Given the description of an element on the screen output the (x, y) to click on. 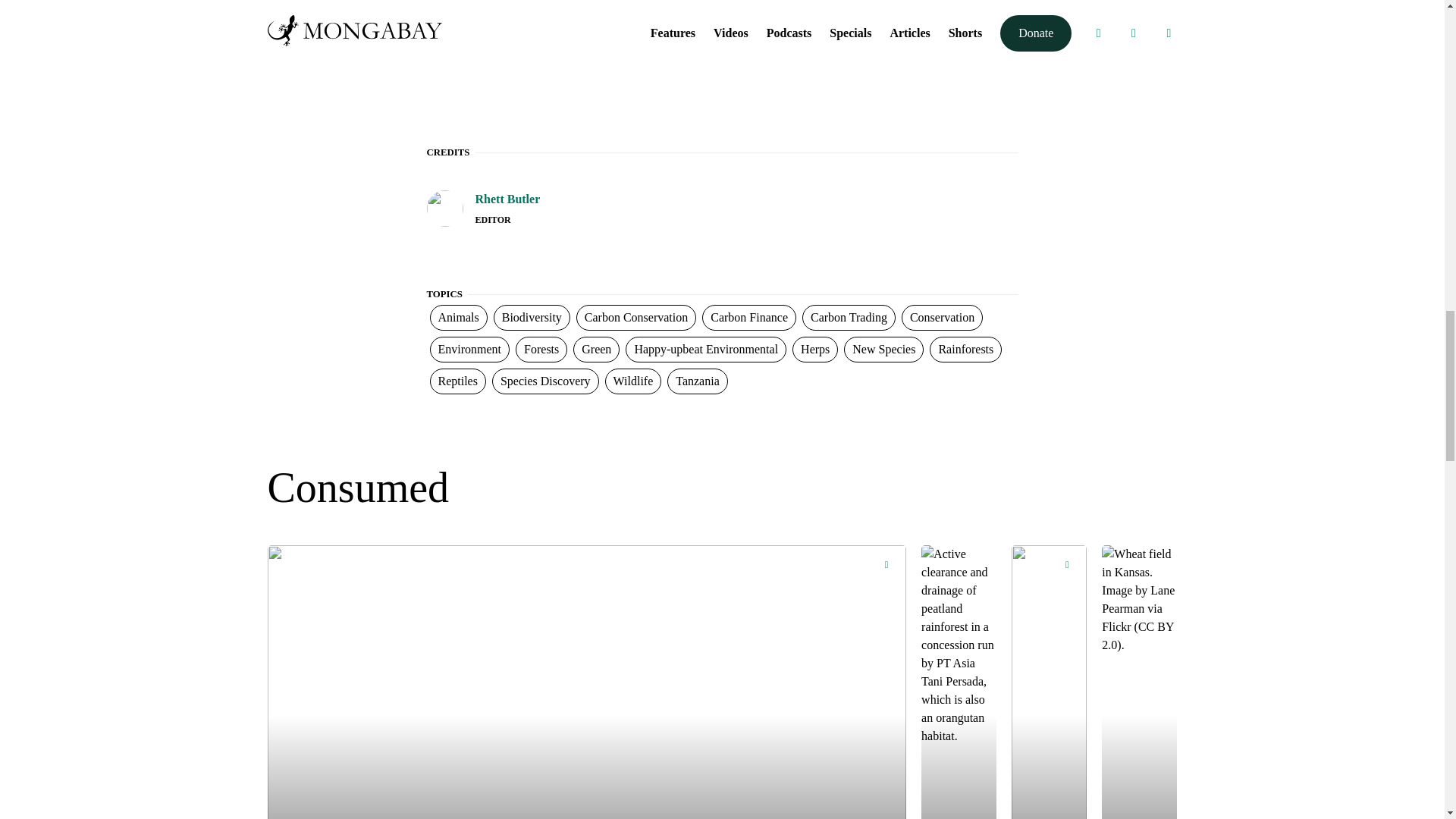
Posts by Rhett Butler (507, 199)
